Given the description of an element on the screen output the (x, y) to click on. 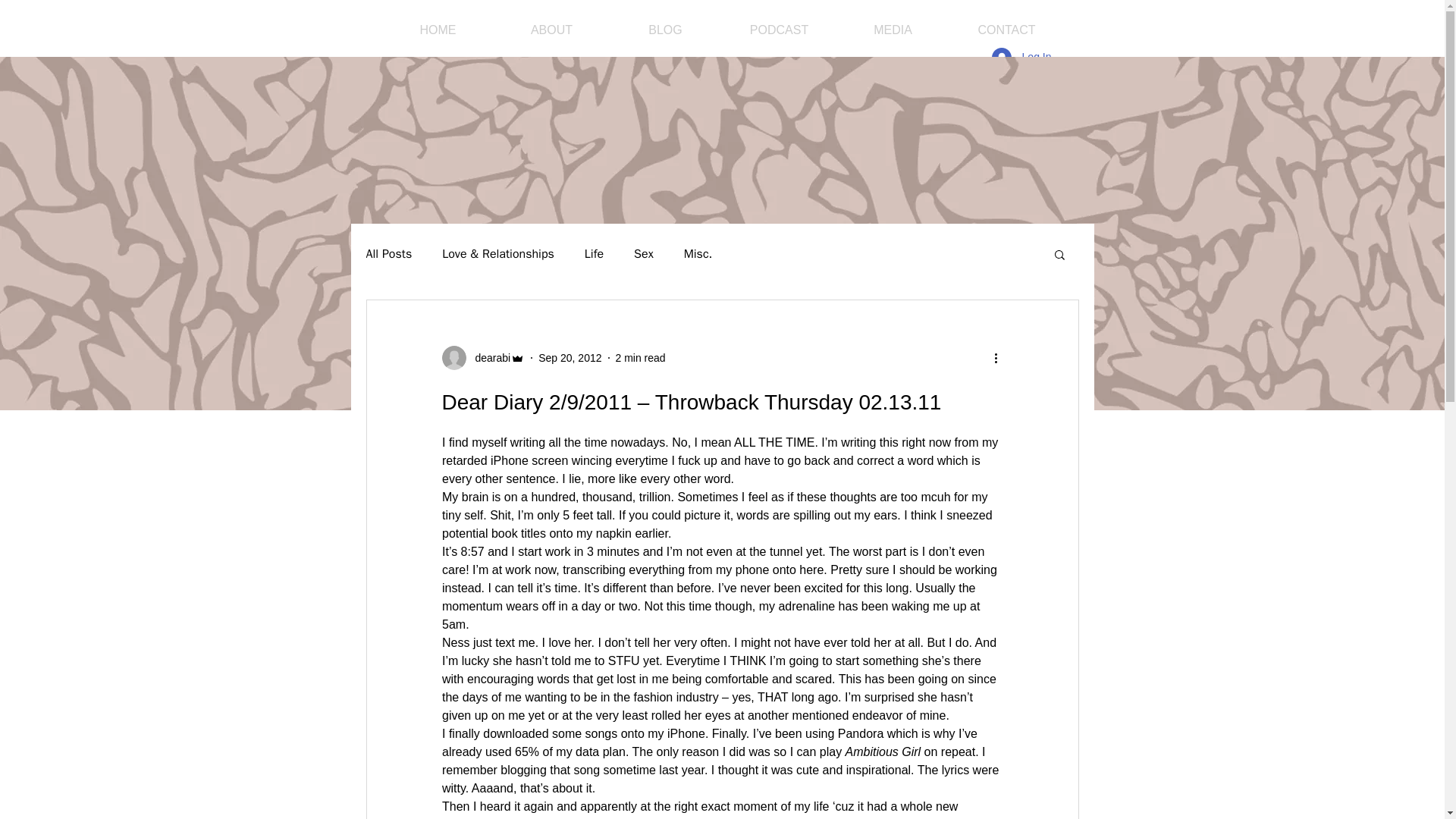
dearabi (488, 358)
2 min read (640, 357)
Misc. (698, 253)
ABOUT (551, 30)
Life (594, 253)
Sex (643, 253)
CONTACT (1005, 30)
dearabi (482, 357)
Log In (1021, 57)
HOME (437, 30)
